Given the description of an element on the screen output the (x, y) to click on. 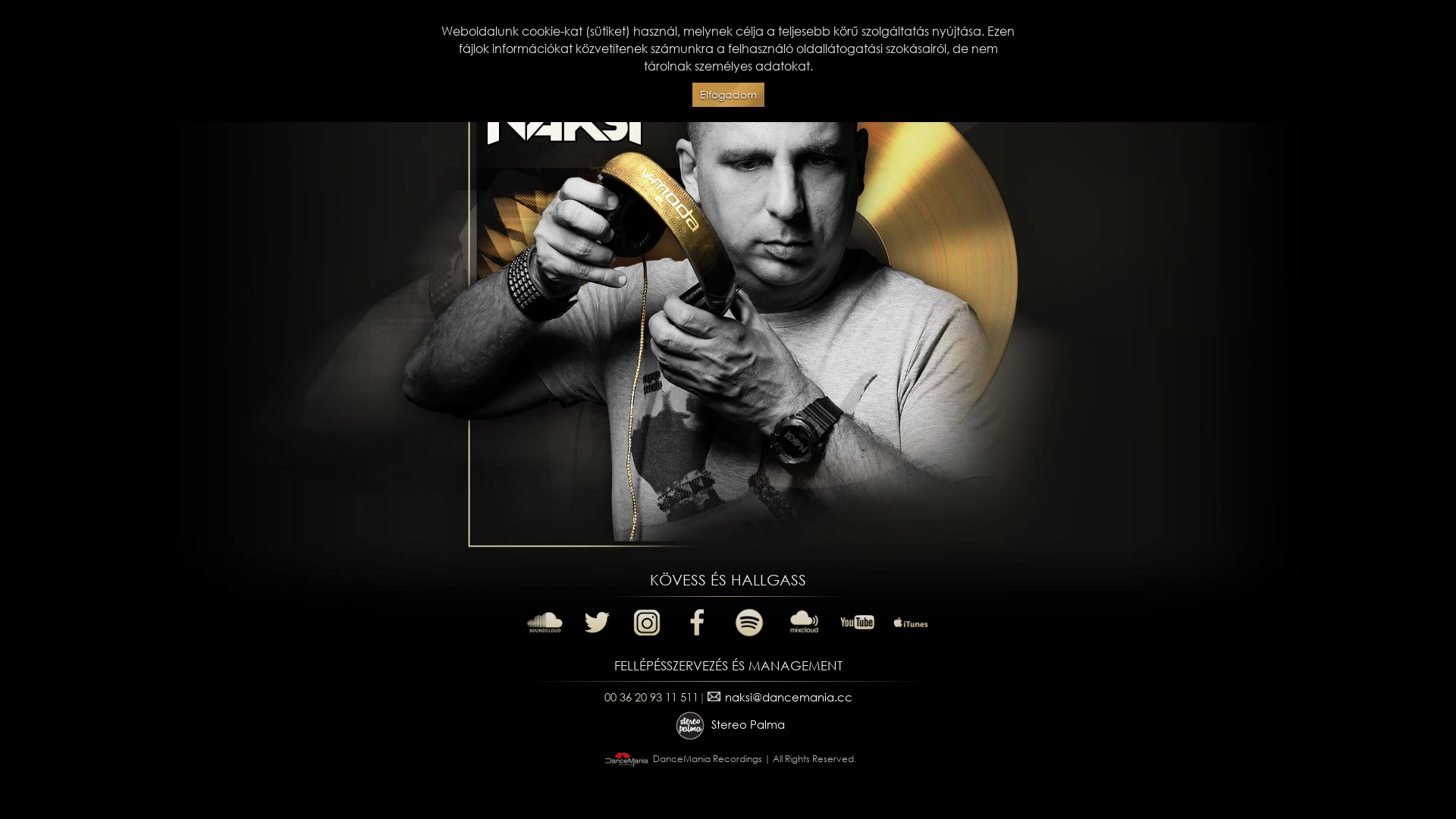
Elfogadom Element type: text (727, 94)
00 36 20 93 11 511 Element type: text (650, 696)
Stereo Palma Element type: text (727, 723)
naksi@dancemania.cc Element type: text (778, 696)
